Given the description of an element on the screen output the (x, y) to click on. 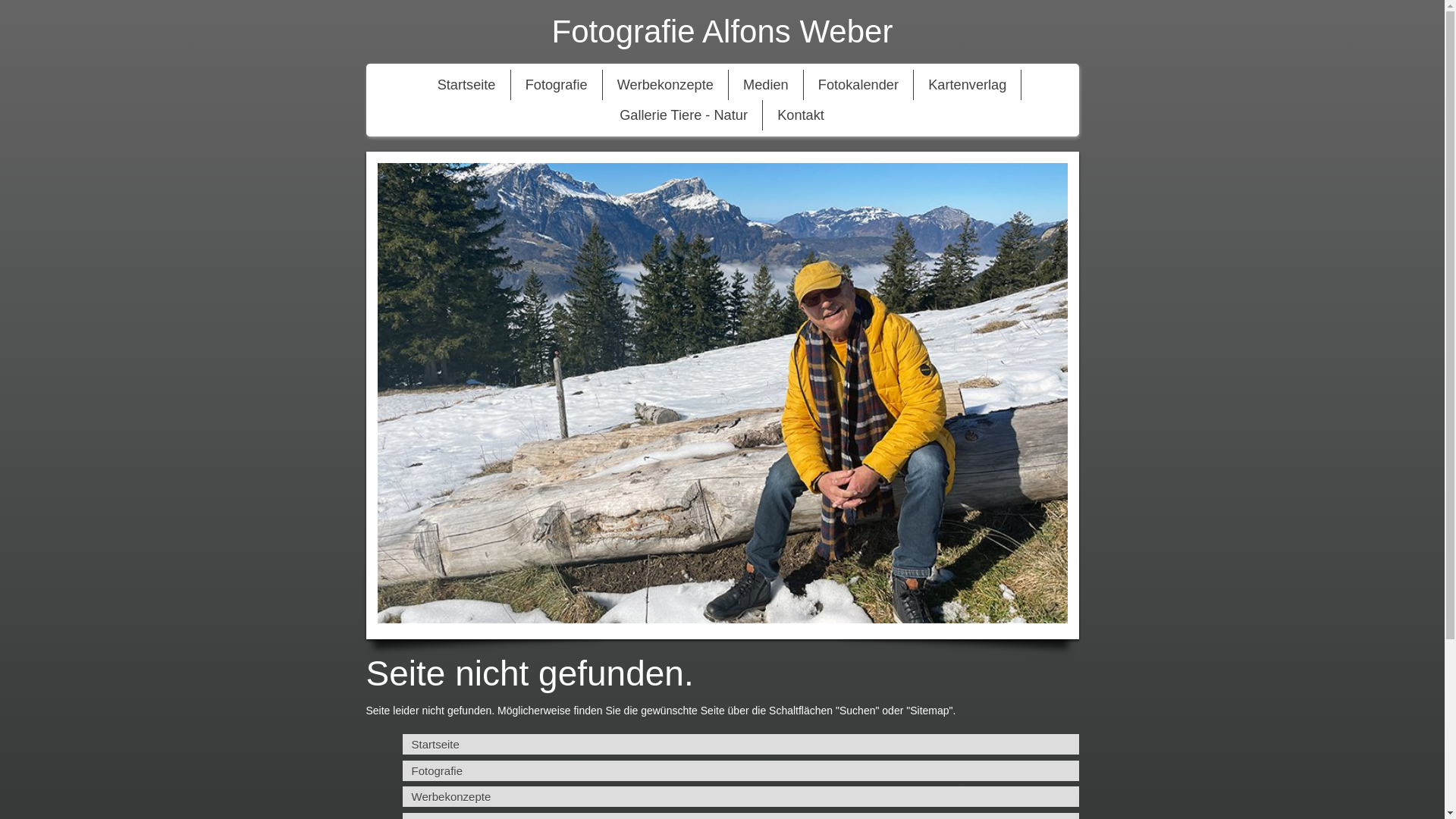
Fotografie Element type: text (739, 770)
Kartenverlag Element type: text (966, 84)
Medien Element type: text (765, 84)
Fotokalender Element type: text (858, 84)
Startseite Element type: text (466, 84)
Kontakt Element type: text (800, 114)
Startseite Element type: text (739, 744)
Fotografie Element type: text (556, 84)
Gallerie Tiere - Natur Element type: text (683, 114)
Fotografie Alfons Weber Element type: text (721, 31)
Werbekonzepte Element type: text (665, 84)
Werbekonzepte Element type: text (739, 796)
